Given the description of an element on the screen output the (x, y) to click on. 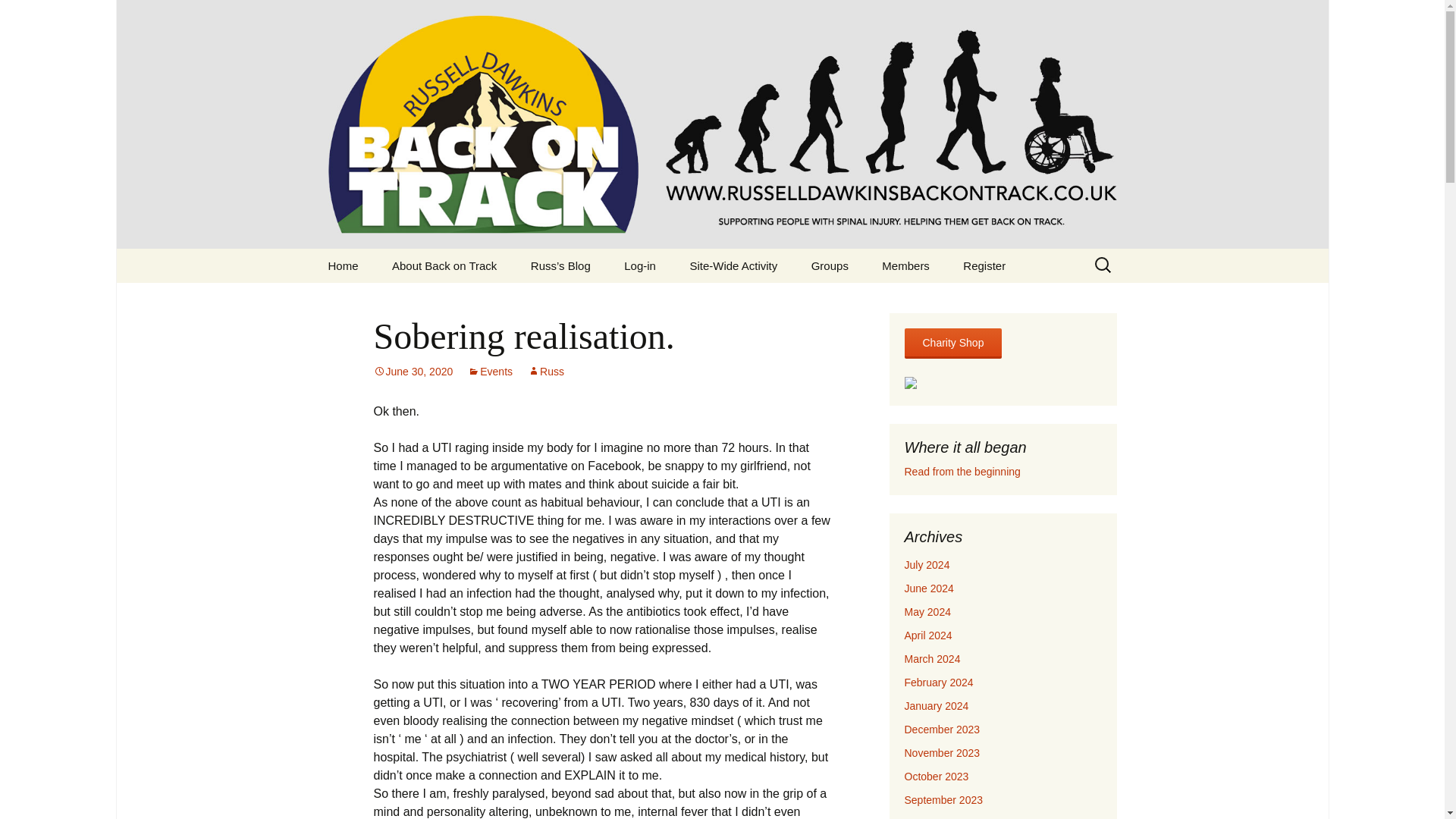
August 2023 (933, 818)
November 2023 (941, 752)
May 2024 (927, 612)
Charity Shop (952, 343)
Home (342, 265)
Search (18, 15)
February 2024 (938, 682)
December 2023 (941, 729)
October 2023 (936, 776)
Charity Shop (952, 342)
June 30, 2020 (412, 371)
January 2024 (936, 705)
September 2023 (943, 799)
